Given the description of an element on the screen output the (x, y) to click on. 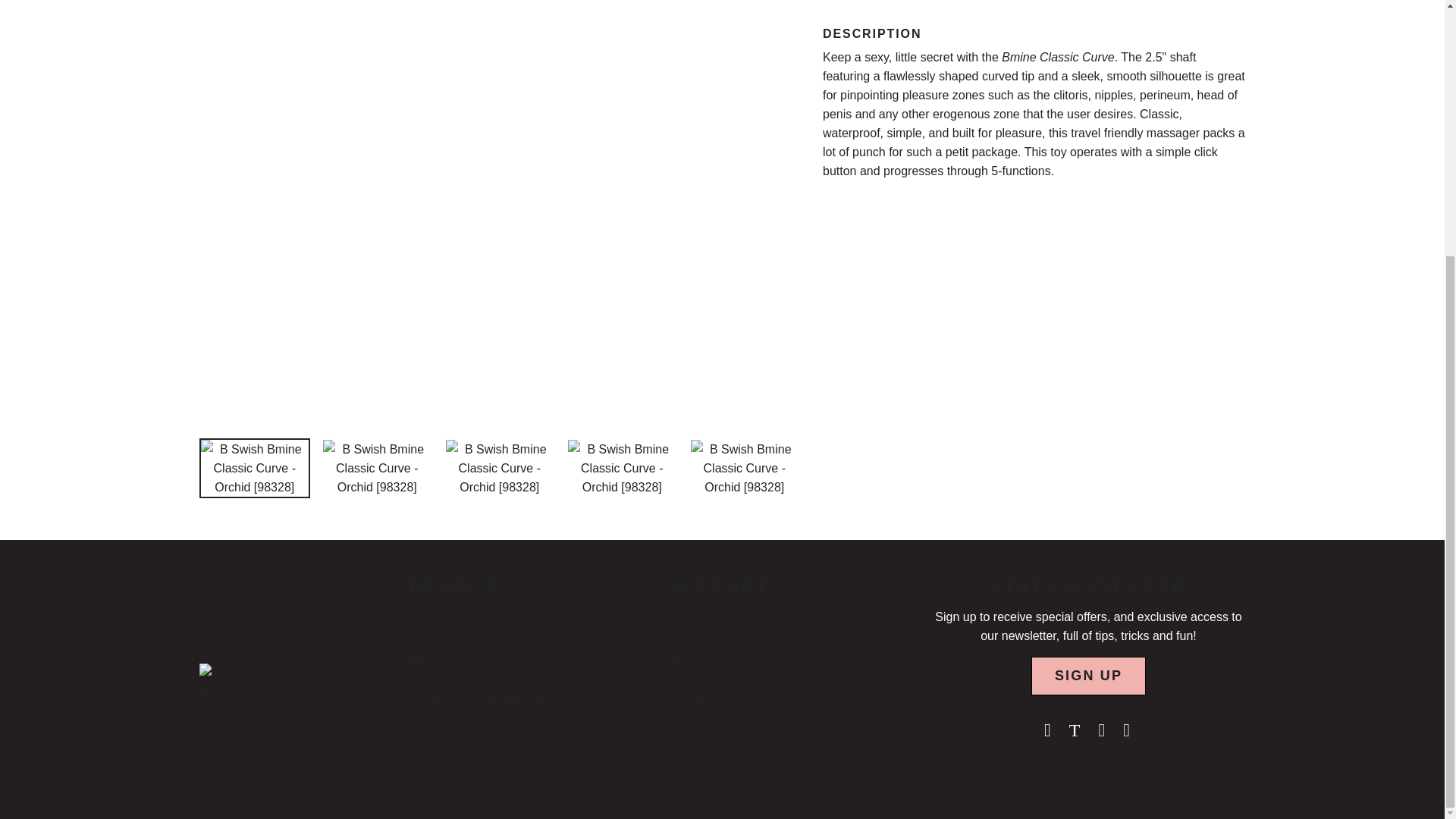
Read: The Full Spread (475, 698)
Returns (693, 661)
Press (424, 772)
Footer Link (424, 772)
Shop Toys (439, 661)
Footer Link (475, 698)
lickerish-love (231, 691)
Footer Link (439, 661)
Footer Link (425, 735)
Shop Boxes (444, 623)
